Given the description of an element on the screen output the (x, y) to click on. 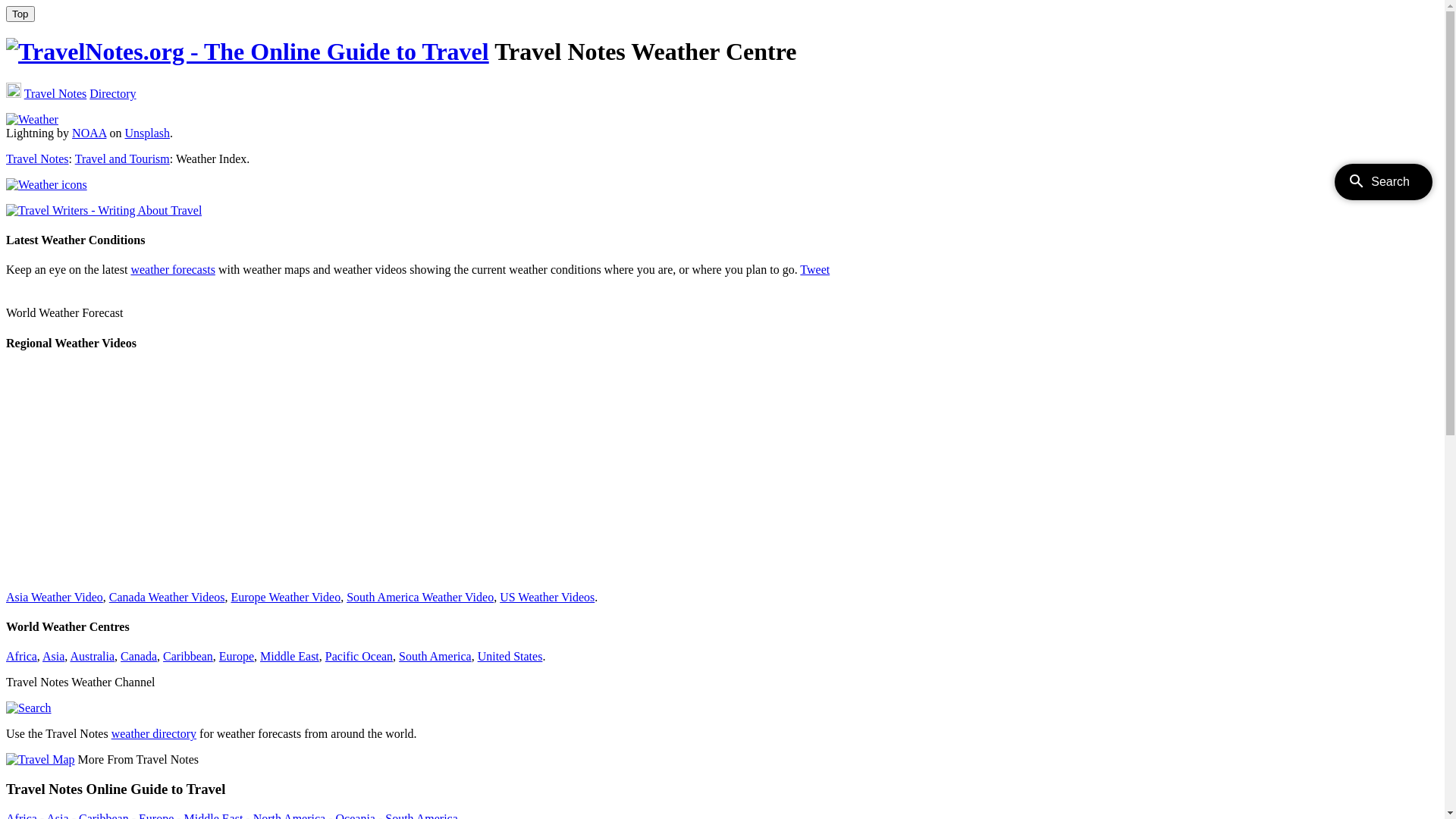
Africa Element type: text (21, 655)
Europe Weather Video Element type: text (285, 596)
Canada Weather Videos Element type: text (167, 596)
South America Element type: text (434, 655)
Tweet Element type: text (814, 269)
weather forecasts Element type: text (172, 269)
Travel Search Element type: hover (13, 89)
Unsplash Element type: text (146, 132)
Canada Element type: text (138, 655)
Middle East Element type: text (289, 655)
Pacific Ocean Element type: text (358, 655)
United States Element type: text (509, 655)
Advertisement Element type: hover (461, 472)
Asia Element type: text (53, 655)
Australia Element type: text (91, 655)
Get to Your Destination Faster with Travel Notes Search Element type: hover (28, 708)
Caribbean Element type: text (188, 655)
Travel and Tourism Element type: text (122, 158)
Travel Notes Element type: text (37, 158)
NOAA Element type: text (89, 132)
Directory Element type: text (112, 93)
US Weather Videos Element type: text (546, 596)
weather directory Element type: text (153, 733)
Travel Notes Element type: text (55, 93)
Europe Element type: text (236, 655)
South America Weather Video Element type: text (419, 596)
Asia Weather Video Element type: text (54, 596)
Top Element type: text (20, 13)
